Given the description of an element on the screen output the (x, y) to click on. 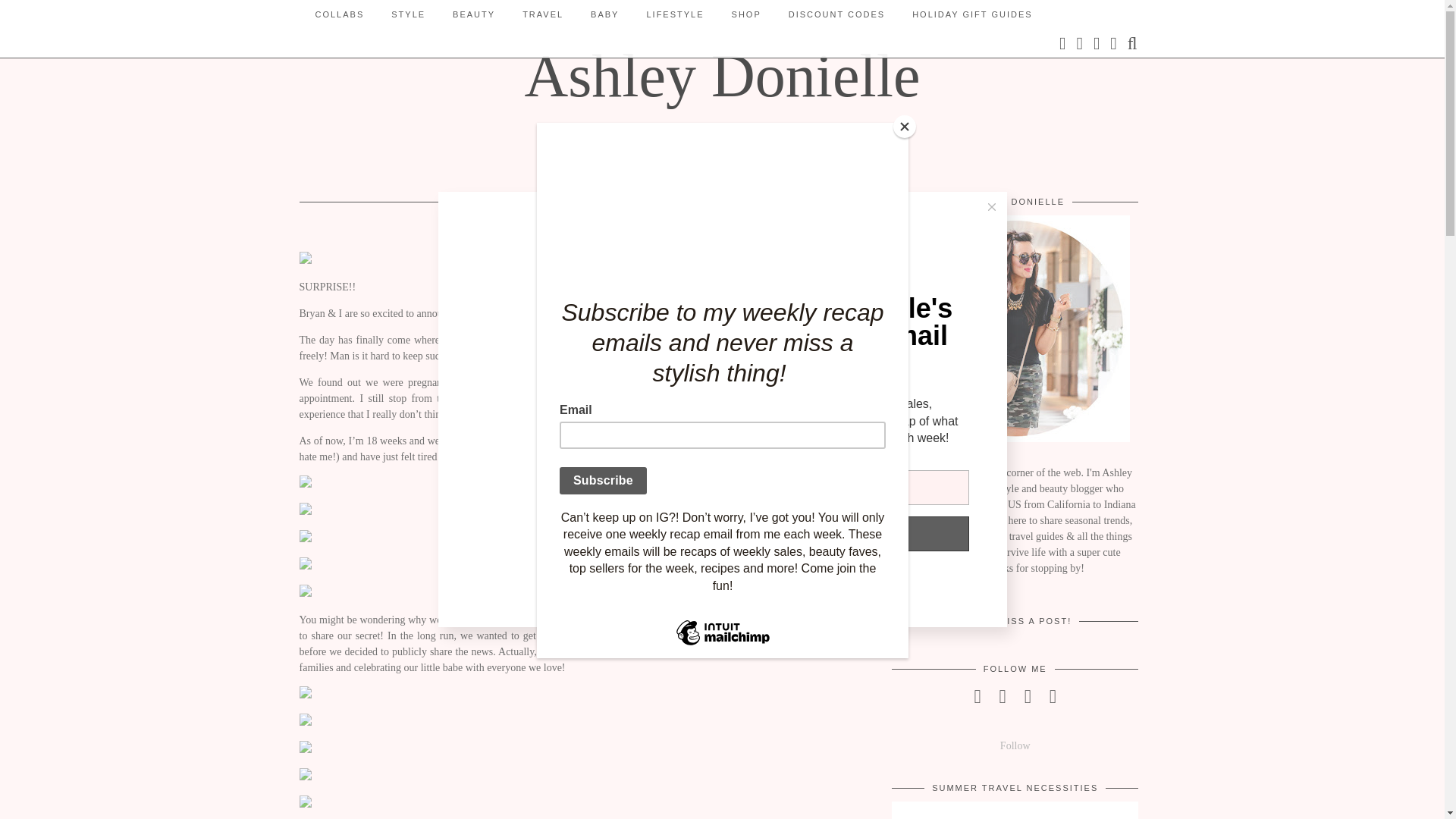
BABY (603, 14)
Ashley Donielle (722, 75)
STYLE (408, 14)
SHOP (745, 14)
BEAUTY (473, 14)
COLLABS (339, 14)
HOLIDAY GIFT GUIDES (971, 14)
Ashley Donielle (722, 75)
DISCOUNT CODES (836, 14)
TRAVEL (542, 14)
LIFESTYLE (674, 14)
